Given the description of an element on the screen output the (x, y) to click on. 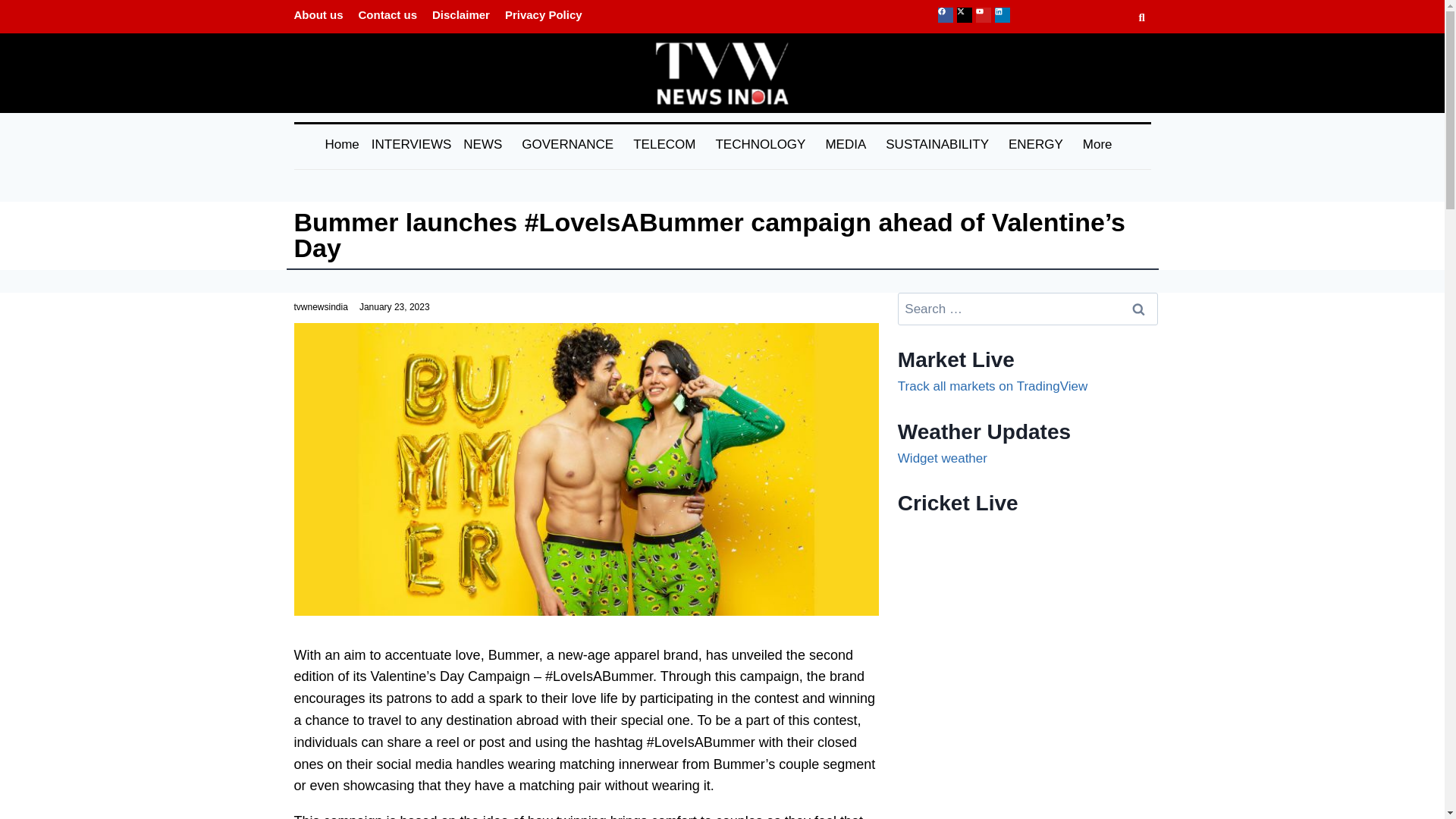
NEWS (486, 144)
INTERVIEWS (410, 144)
Privacy Policy (543, 14)
MEDIA (849, 144)
Contact us (387, 14)
Disclaimer (461, 14)
TELECOM (667, 144)
Search (1138, 308)
GOVERNANCE (571, 144)
Home (341, 144)
